Given the description of an element on the screen output the (x, y) to click on. 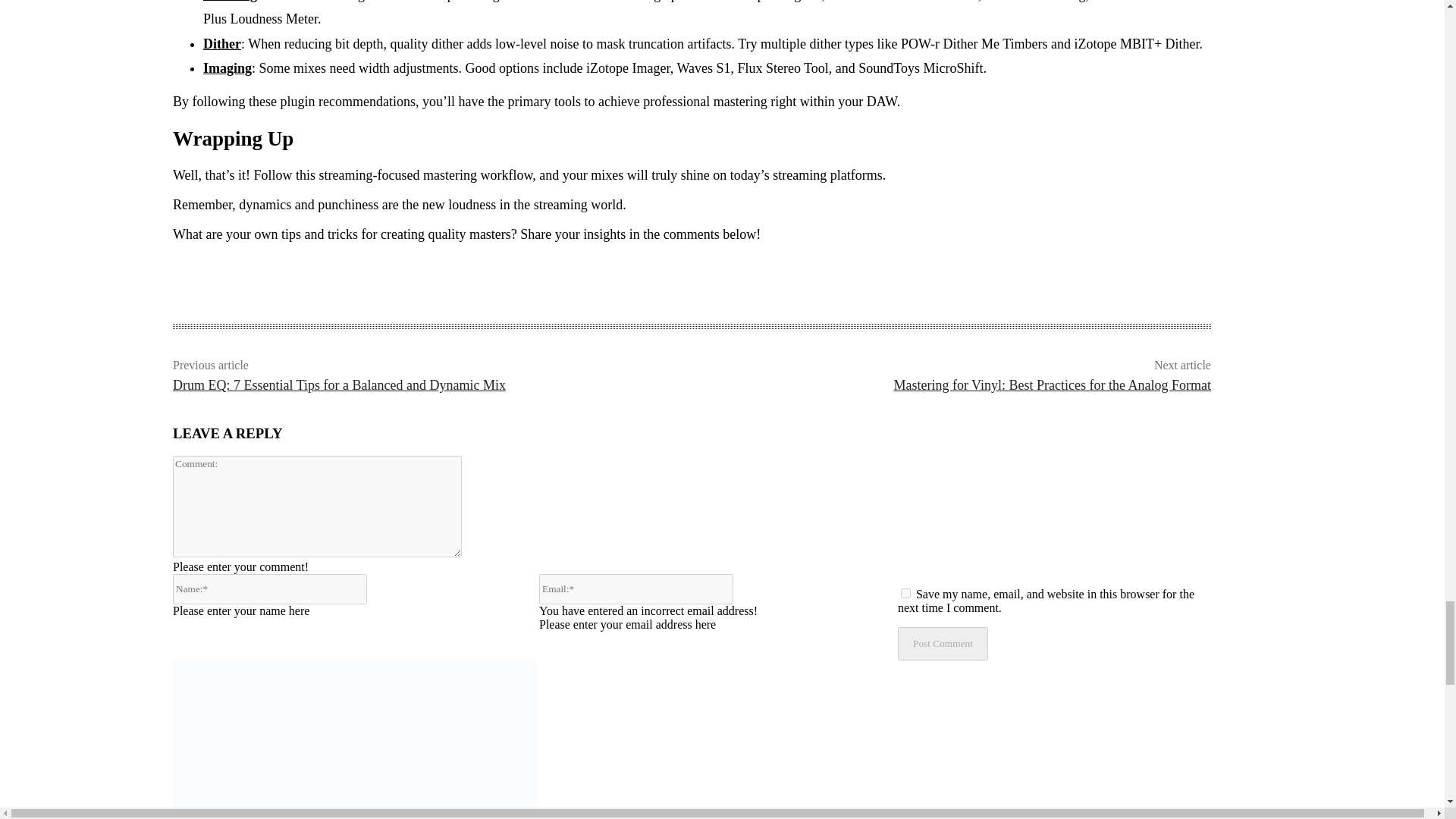
Post Comment (943, 643)
yes (906, 593)
